Given the description of an element on the screen output the (x, y) to click on. 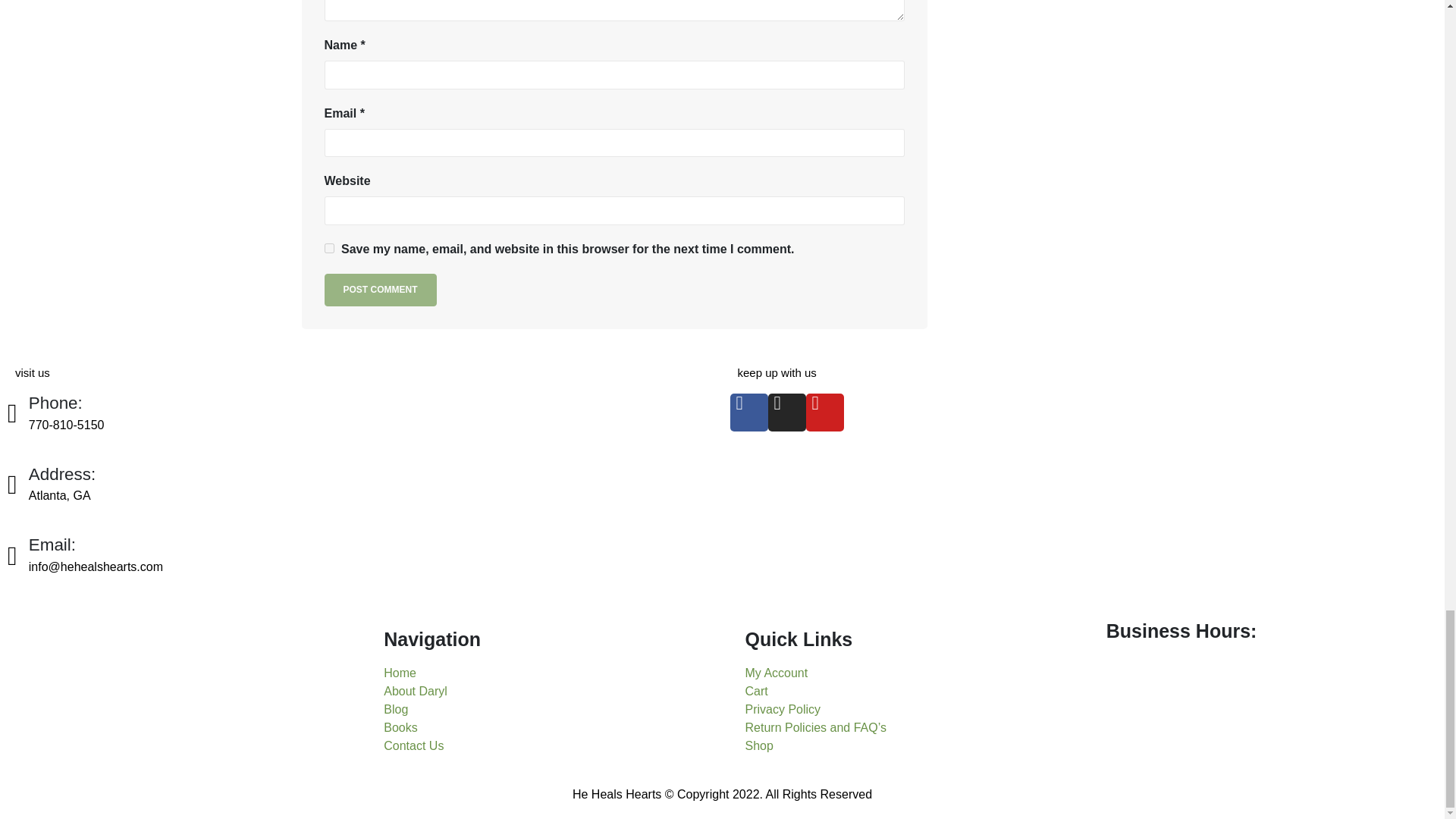
Post Comment (380, 288)
yes (329, 247)
Post Comment (380, 288)
